Given the description of an element on the screen output the (x, y) to click on. 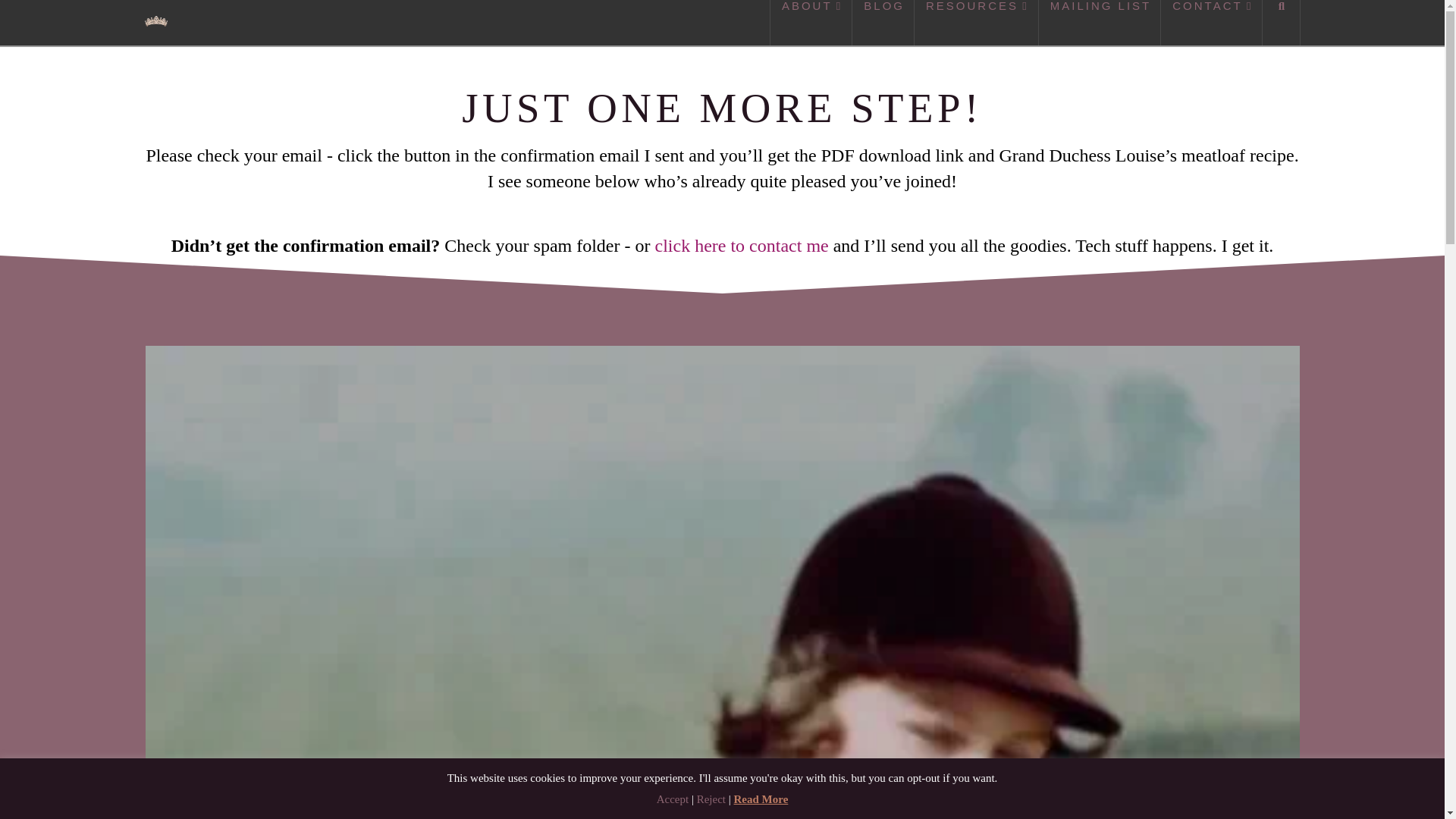
CONTACT (1211, 22)
RESOURCES (976, 22)
BLOG (882, 22)
MAILING LIST (1100, 22)
ABOUT (810, 22)
